Given the description of an element on the screen output the (x, y) to click on. 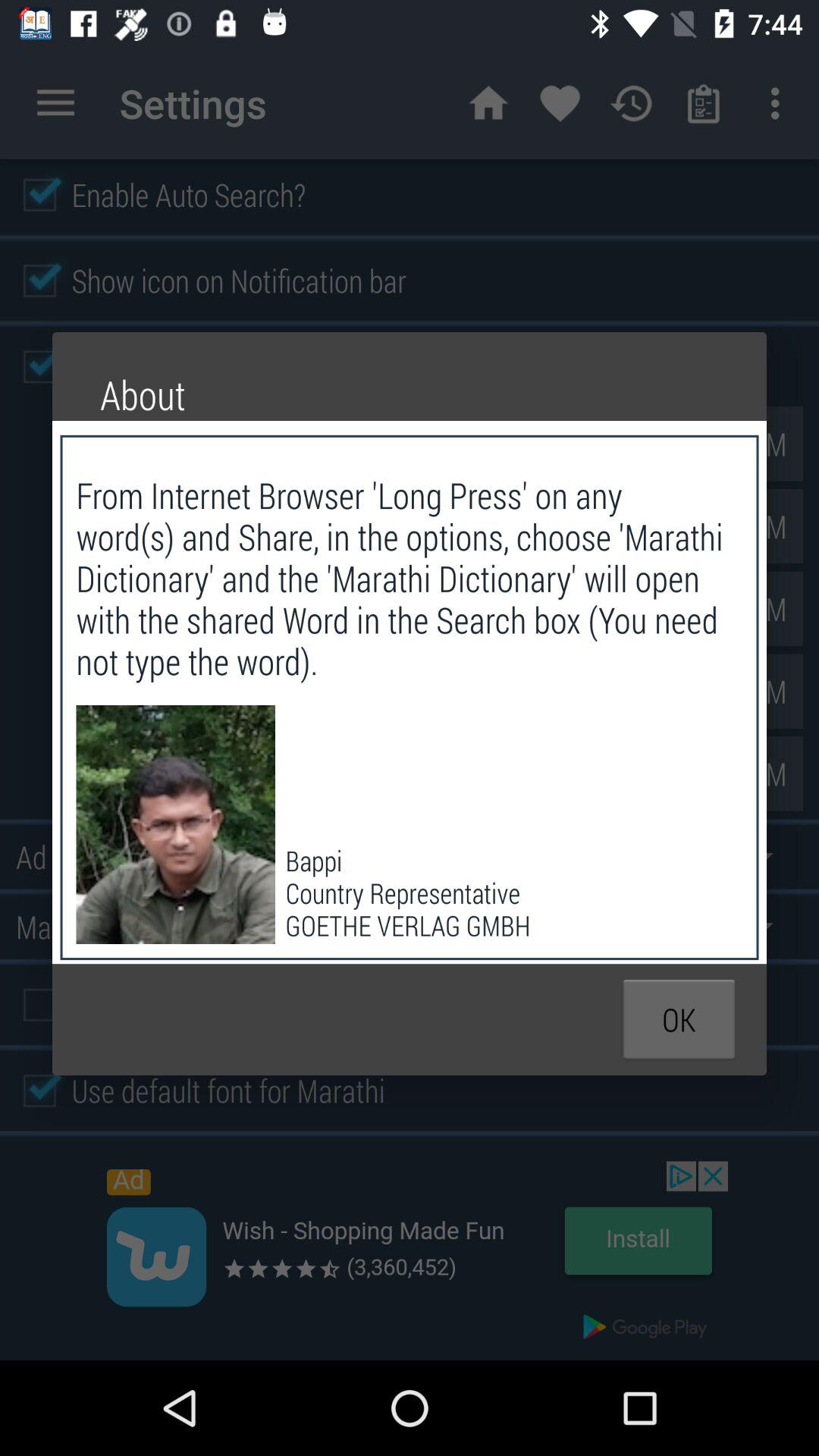
jump until ok item (678, 1019)
